Given the description of an element on the screen output the (x, y) to click on. 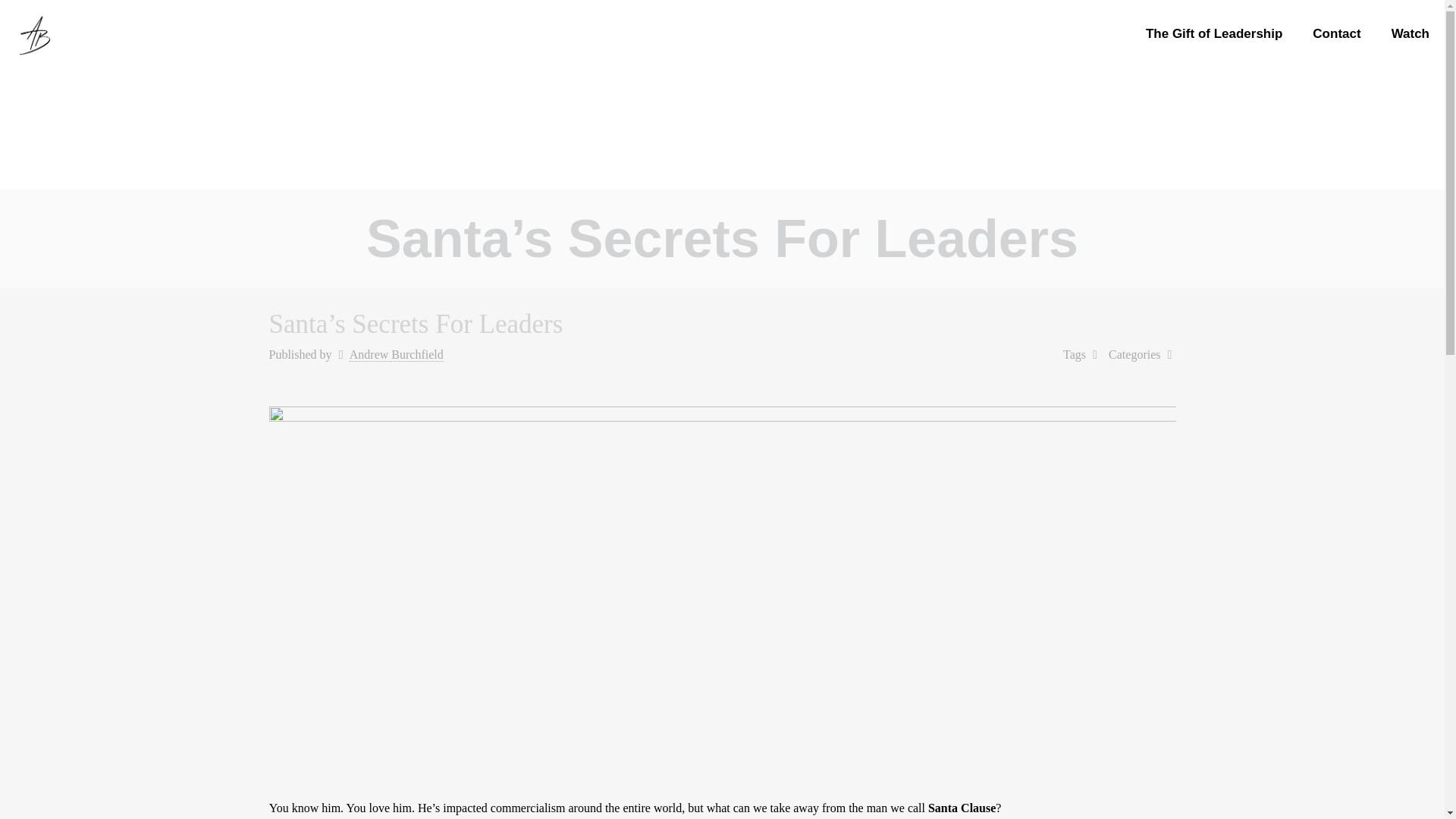
Andrew Burchfield (396, 354)
The Gift of Leadership (1214, 33)
Contact (1336, 33)
